Given the description of an element on the screen output the (x, y) to click on. 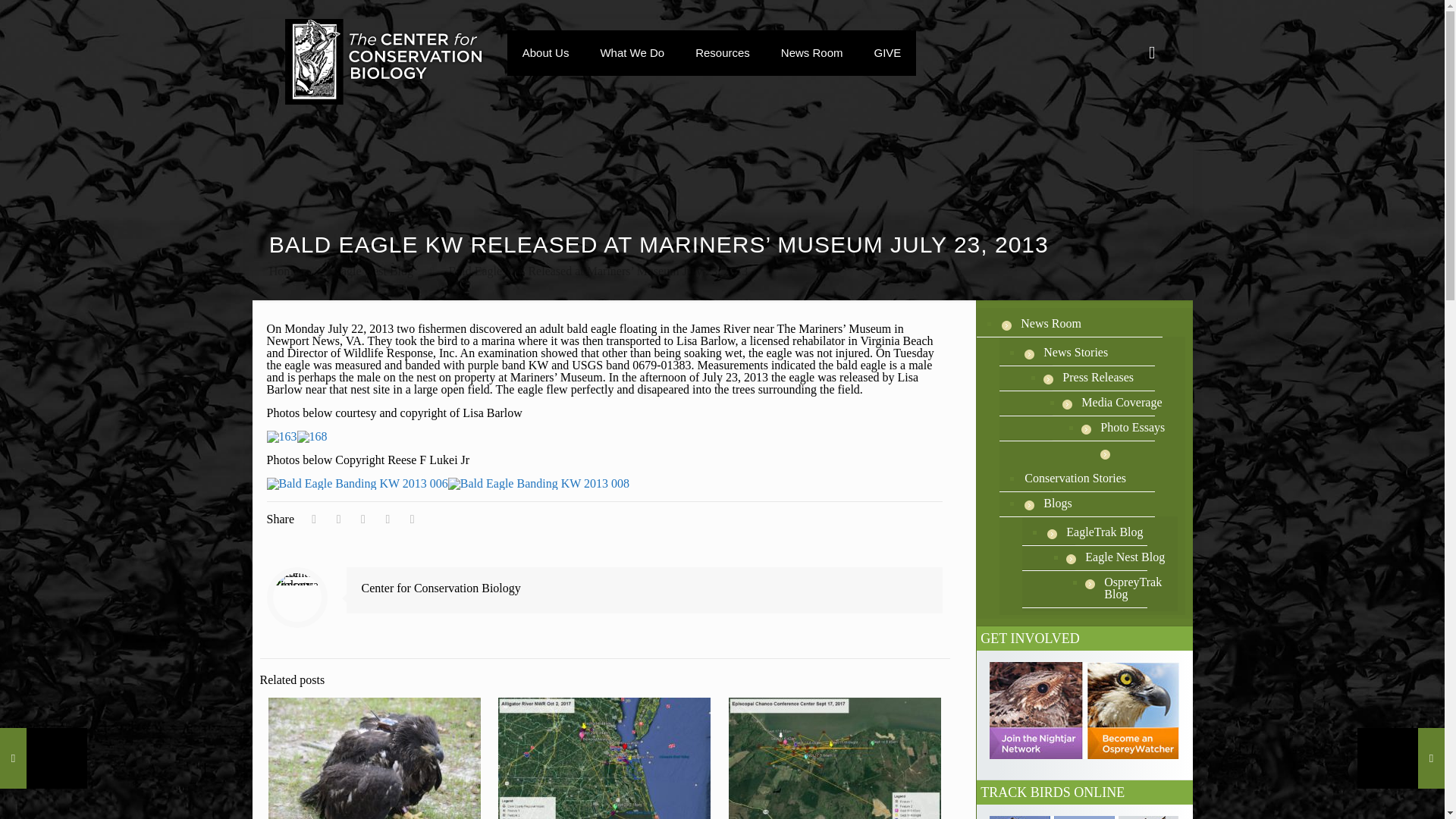
What We Do (632, 52)
About Us (545, 52)
The Center for Conservation Biology (383, 61)
